Given the description of an element on the screen output the (x, y) to click on. 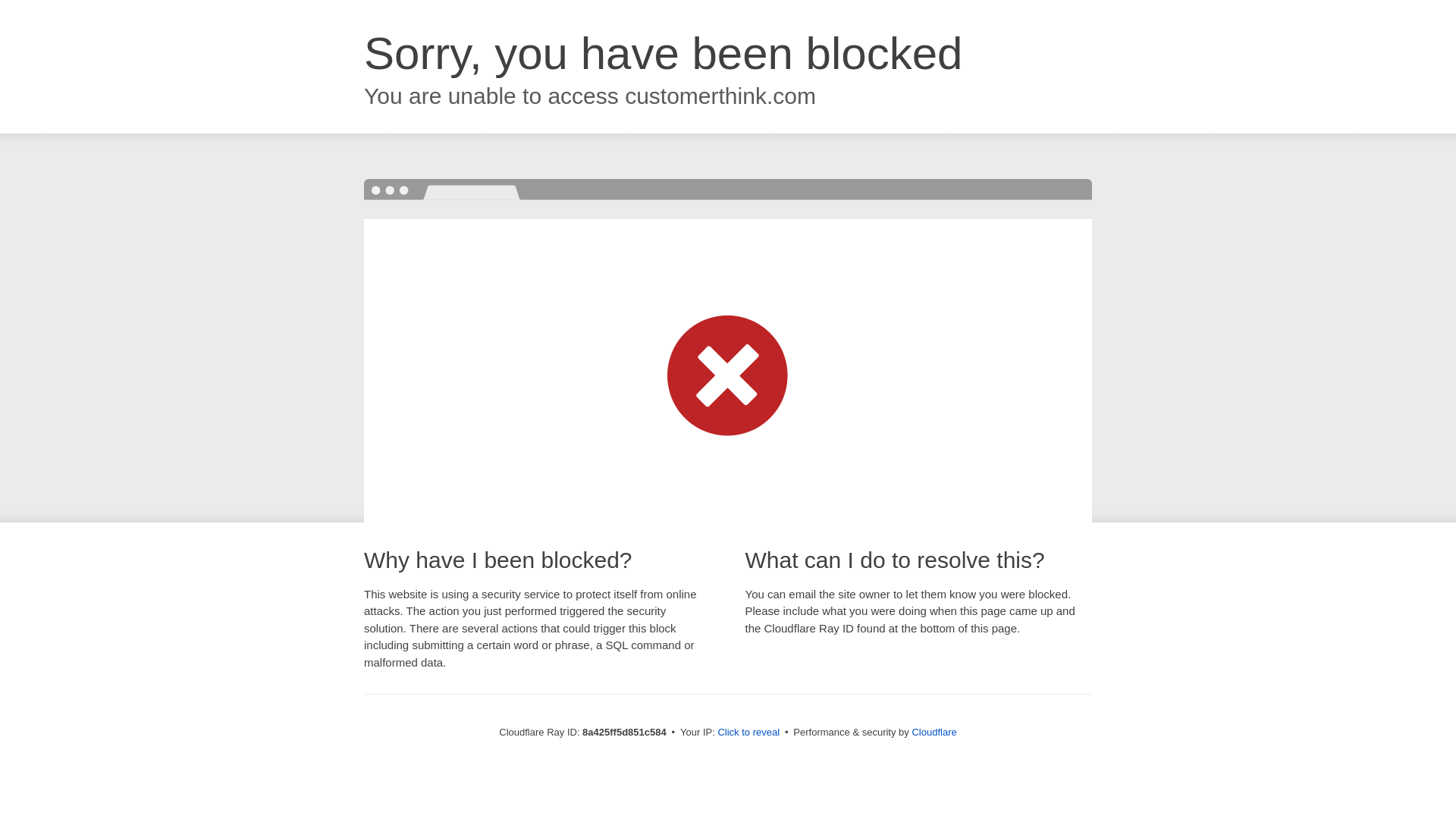
Click to reveal (747, 732)
Cloudflare (933, 731)
